Given the description of an element on the screen output the (x, y) to click on. 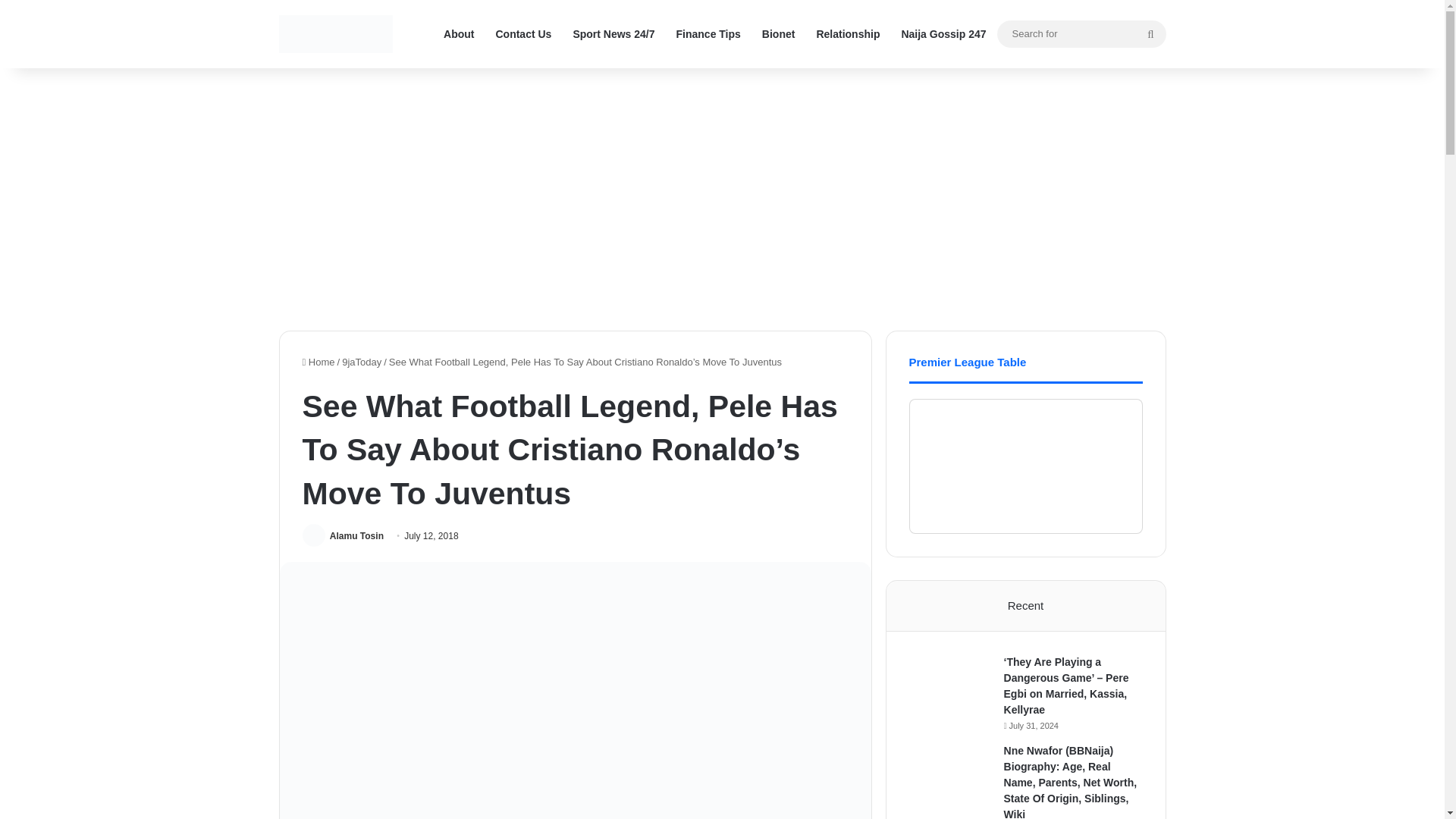
Alamu Tosin (357, 535)
Home (317, 361)
9jaToday (361, 361)
Relationship (847, 33)
Alamu Tosin (357, 535)
Naija News 247 (336, 34)
Search for (1150, 33)
Recent (1026, 605)
Finance Tips (708, 33)
Naija Gossip 247 (942, 33)
Contact Us (523, 33)
Search for (1080, 33)
